Given the description of an element on the screen output the (x, y) to click on. 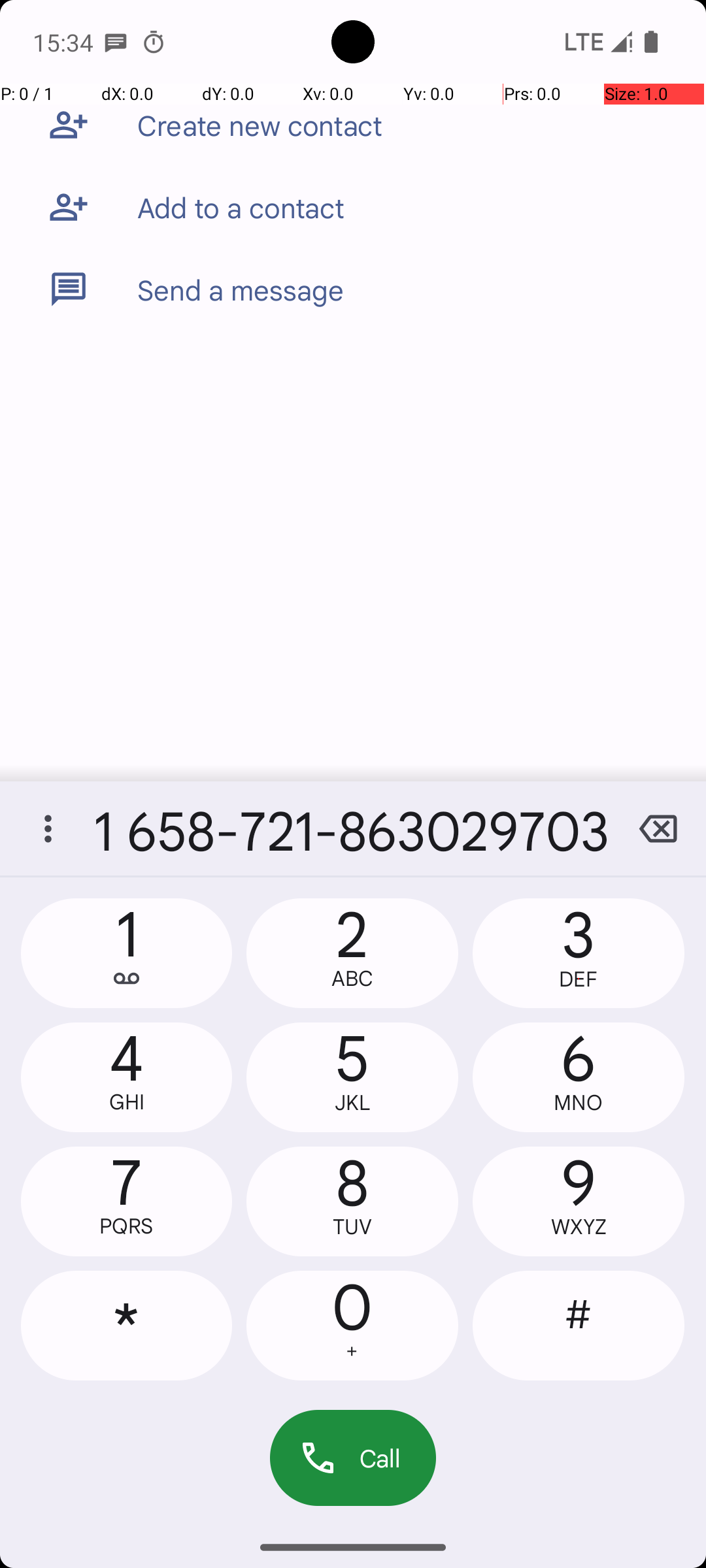
+1 658-721-863029703 Element type: android.widget.EditText (352, 828)
